Given the description of an element on the screen output the (x, y) to click on. 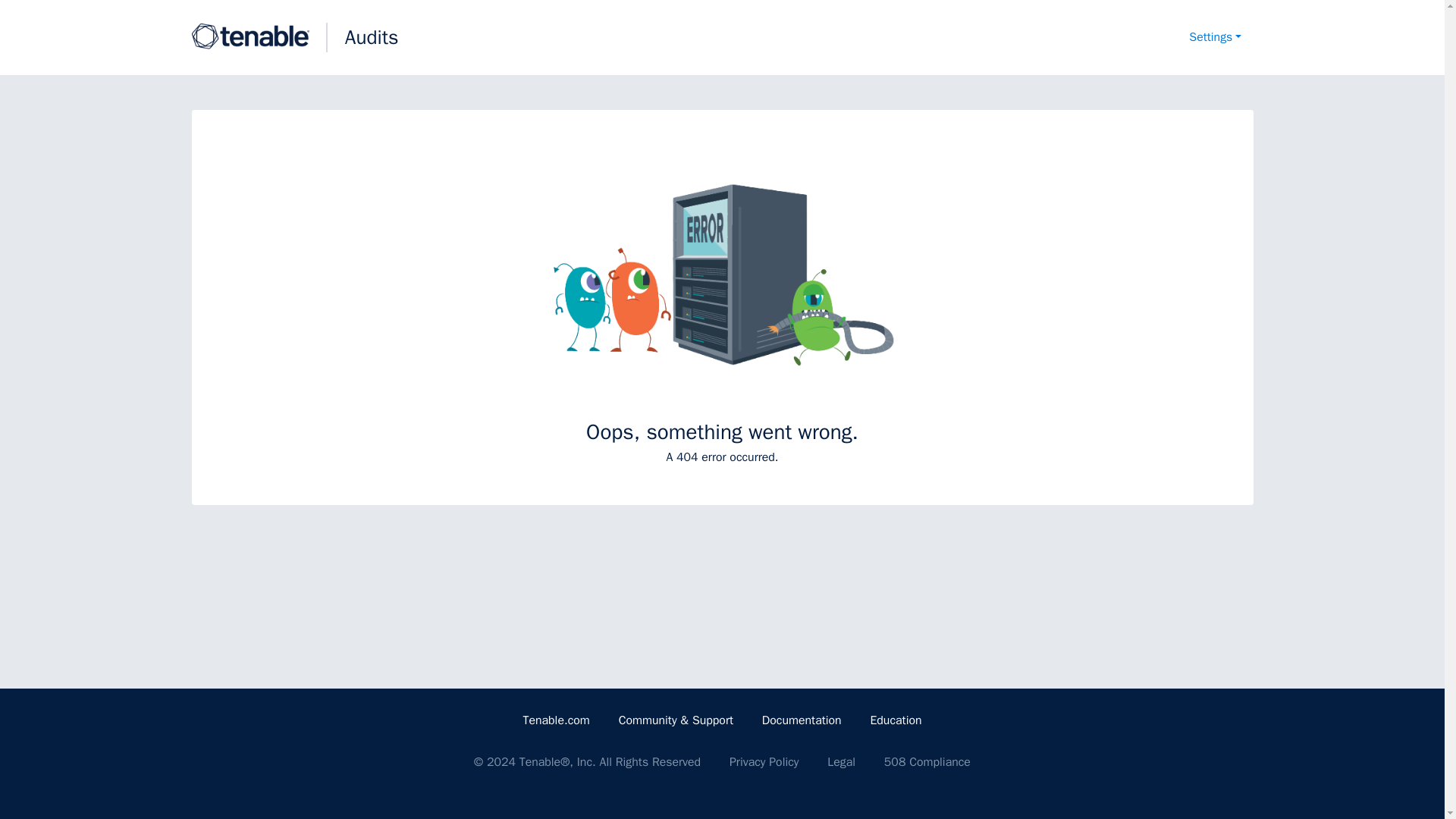
Settings (1214, 37)
Audits (371, 37)
